Given the description of an element on the screen output the (x, y) to click on. 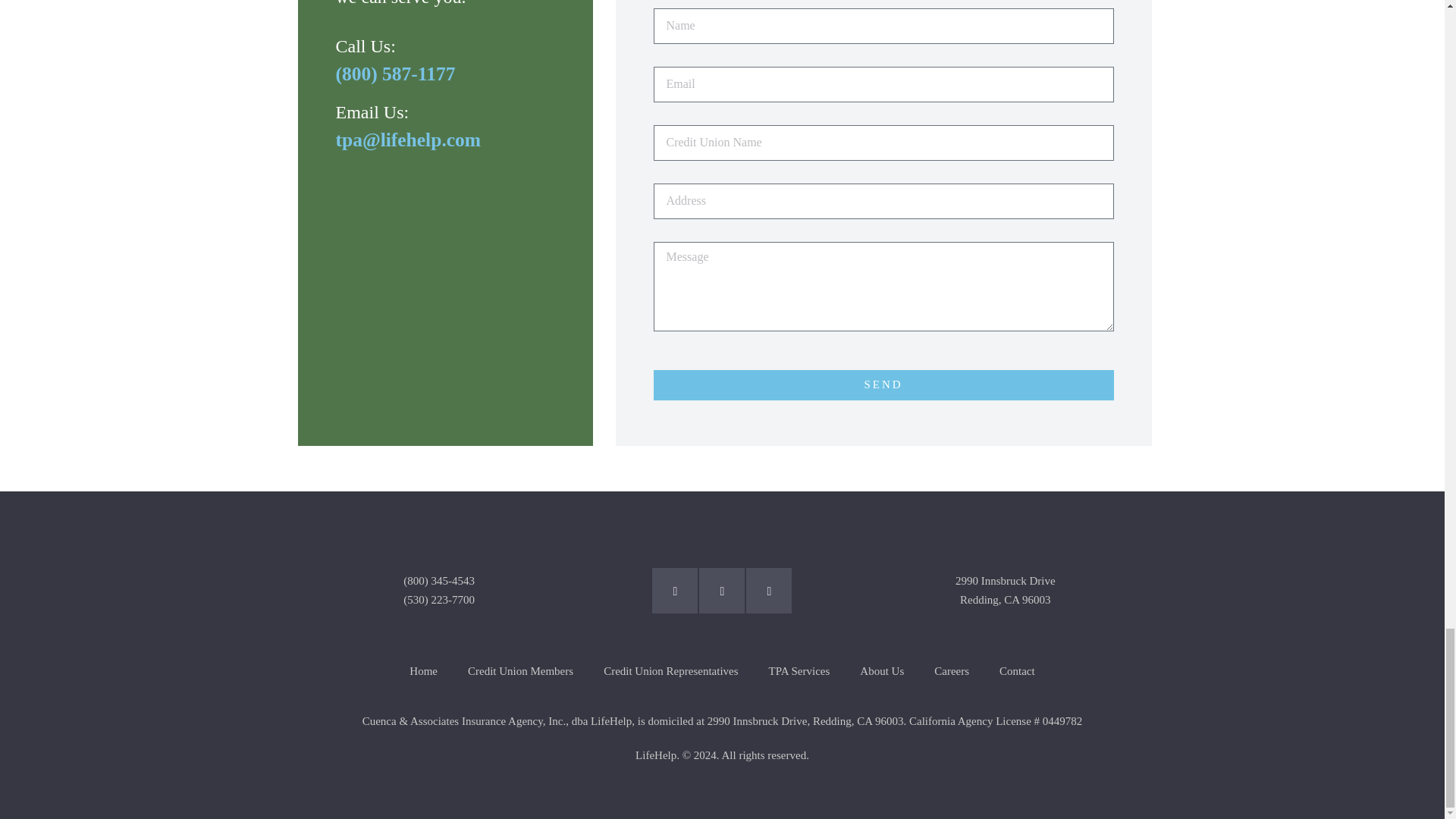
Credit Union Representatives (670, 670)
Careers (951, 670)
Instagram (721, 590)
TPA Services (799, 670)
Facebook (674, 590)
Credit Union Members (520, 670)
LinkedIn (768, 590)
Home (423, 670)
About Us (881, 670)
SEND (883, 385)
